Given the description of an element on the screen output the (x, y) to click on. 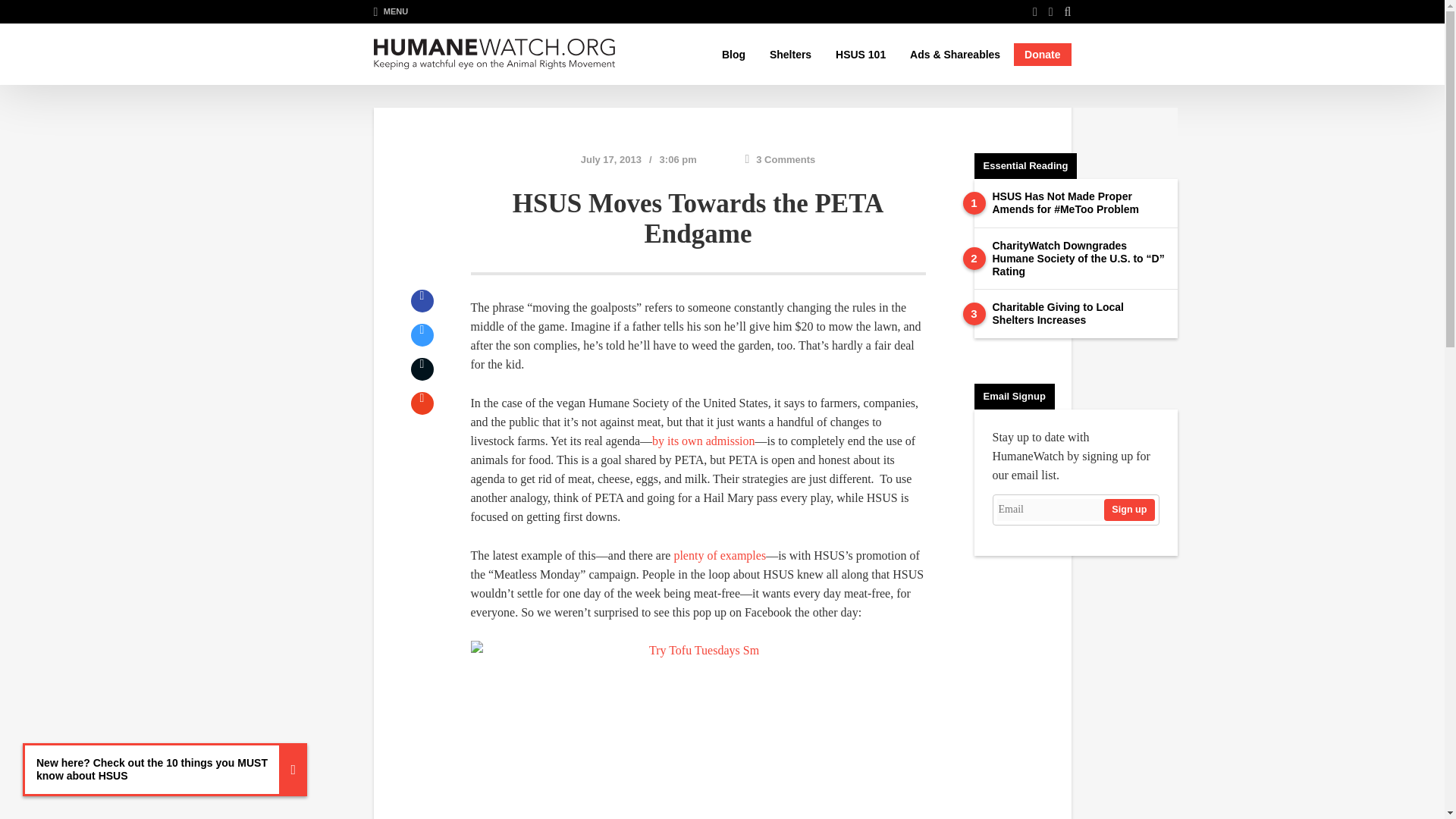
MENU (389, 11)
Shelters (790, 54)
plenty of examples (718, 554)
Sign up (1128, 509)
Donate (1041, 54)
by its own admission (703, 440)
Blog (733, 54)
3 Comments (779, 159)
HSUS 101 (860, 54)
